Given the description of an element on the screen output the (x, y) to click on. 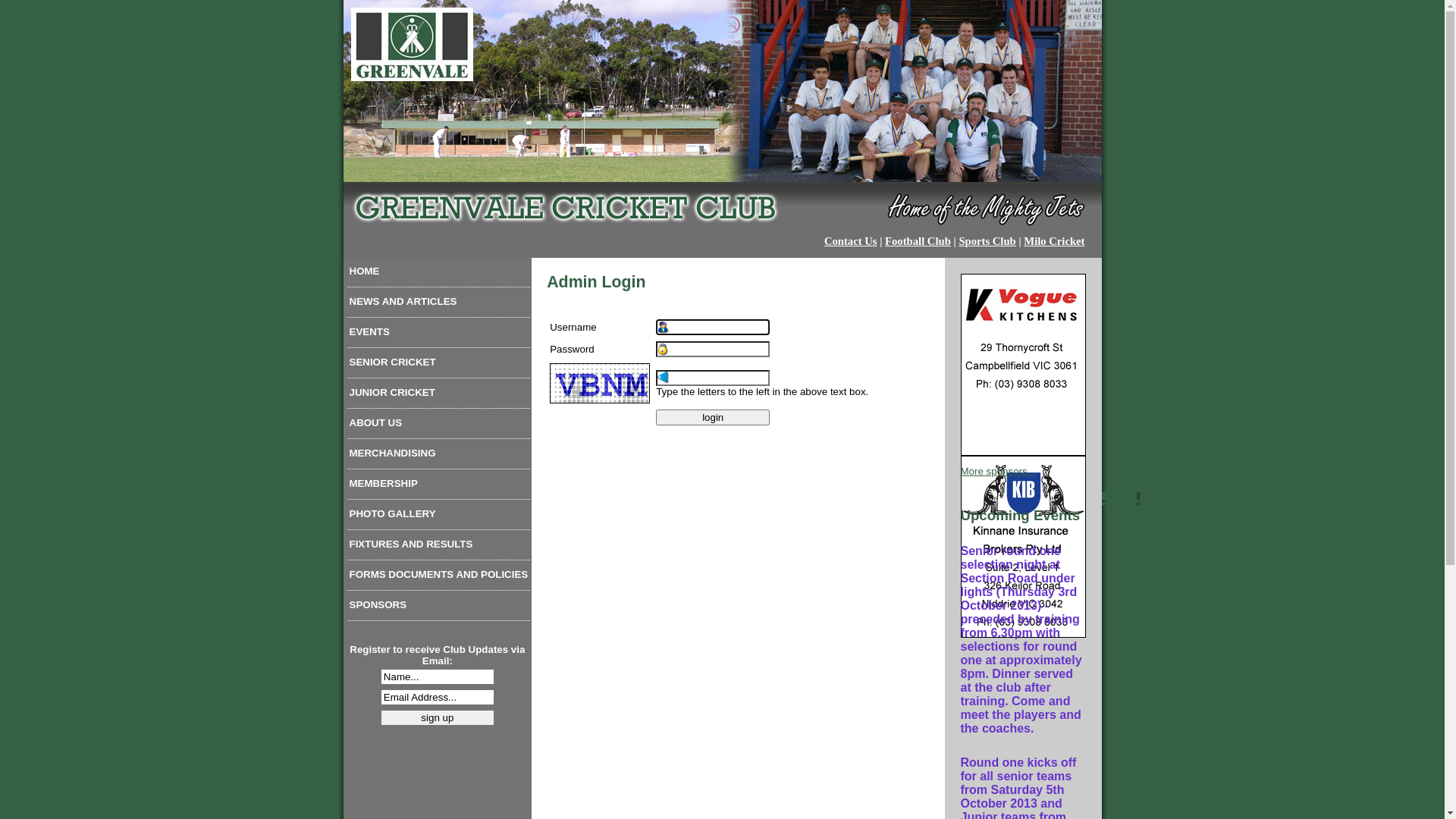
EVENTS Element type: text (438, 335)
Sports Club Element type: text (986, 241)
FORMS DOCUMENTS AND POLICIES Element type: text (438, 577)
MEMBERSHIP Element type: text (438, 486)
PHOTO GALLERY Element type: text (438, 517)
Milo Cricket Element type: text (1053, 241)
Contact Us Element type: text (850, 241)
login Element type: text (712, 417)
sign up Element type: text (437, 717)
FIXTURES AND RESULTS Element type: text (438, 547)
ABOUT US Element type: text (438, 426)
HOME Element type: text (438, 274)
Football Club Element type: text (917, 241)
More sponsors... Element type: text (997, 470)
NEWS AND ARTICLES Element type: text (438, 304)
SPONSORS Element type: text (438, 608)
JUNIOR CRICKET Element type: text (438, 395)
MERCHANDISING Element type: text (438, 456)
SENIOR CRICKET Element type: text (438, 365)
